Given the description of an element on the screen output the (x, y) to click on. 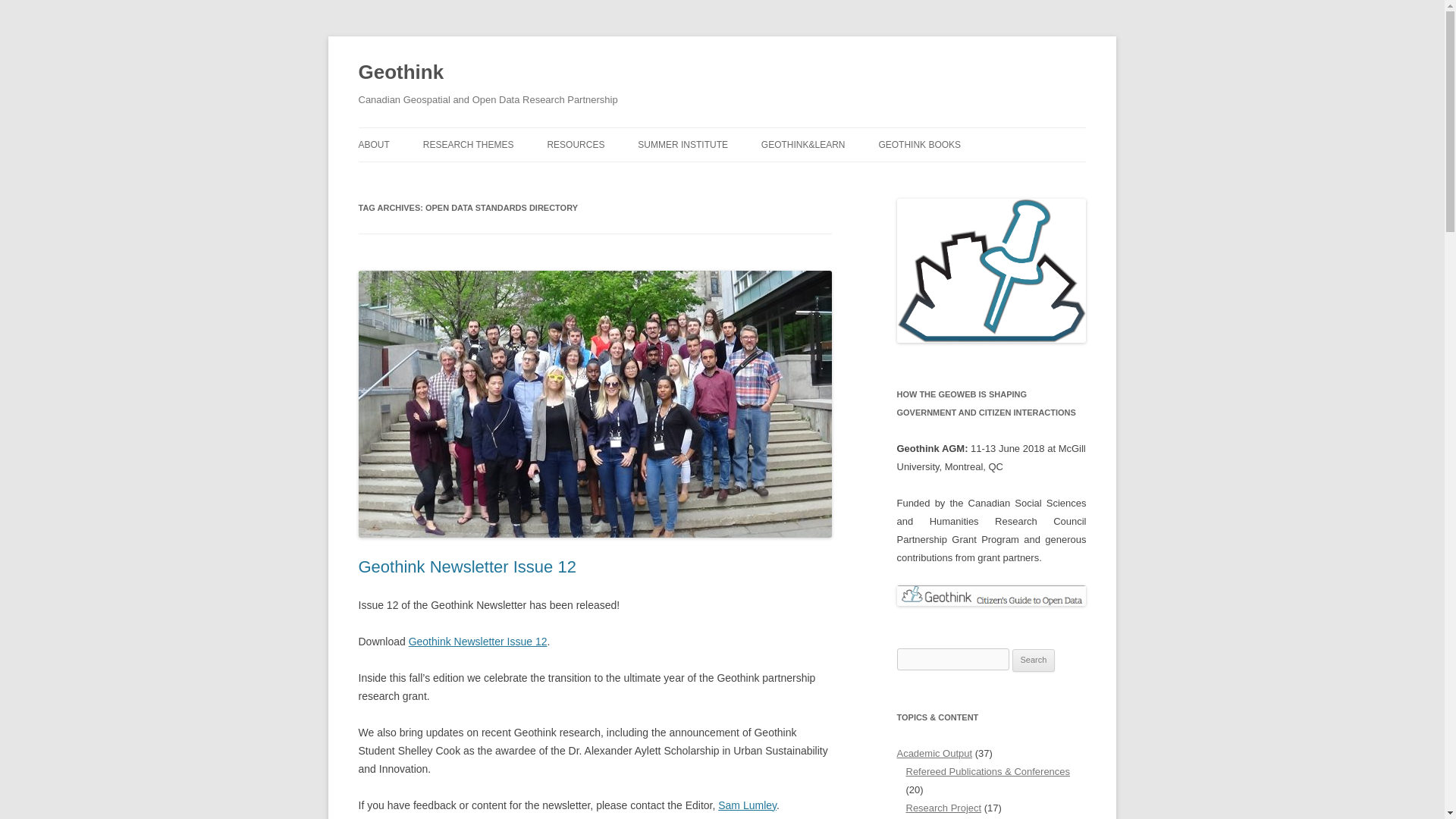
Geothink Newsletter Issue 12 (466, 566)
ABOUT (373, 144)
Geothink (401, 72)
SUMMER INSTITUTE (682, 144)
RESEARCH THEMES (468, 144)
GEOTHINK PUBLICATIONS (622, 176)
Geothink (401, 72)
Search (1033, 660)
RESOURCES (575, 144)
Geothink Newsletter Issue 12 (478, 641)
THE TEAM (433, 176)
GEOTHINK BOOKS (918, 144)
Sam Lumley (746, 805)
